Given the description of an element on the screen output the (x, y) to click on. 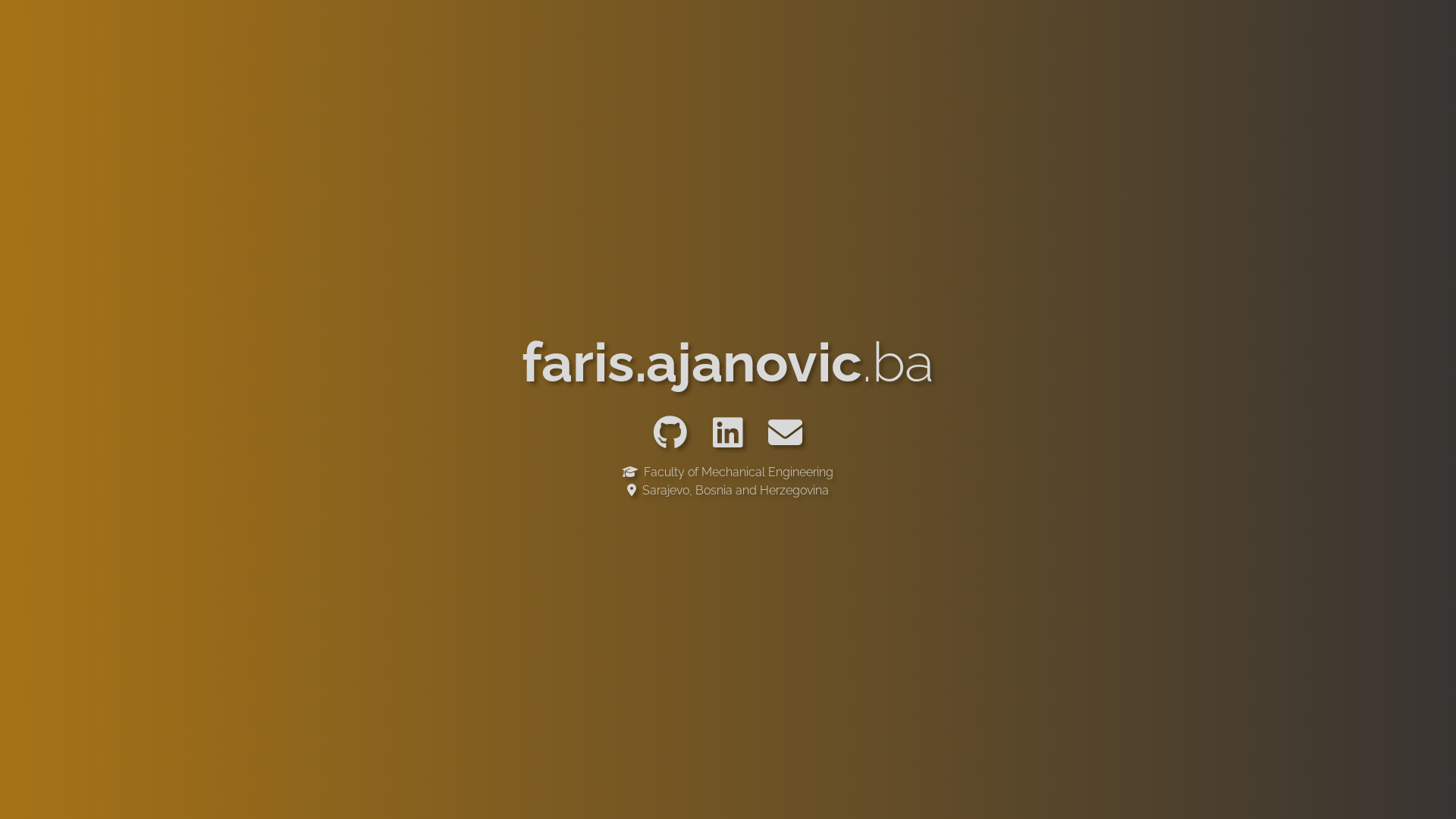
  Sarajevo, Bosnia and Herzegovina Element type: text (727, 489)
  Faculty of Mechanical Engineering Element type: text (727, 473)
